Given the description of an element on the screen output the (x, y) to click on. 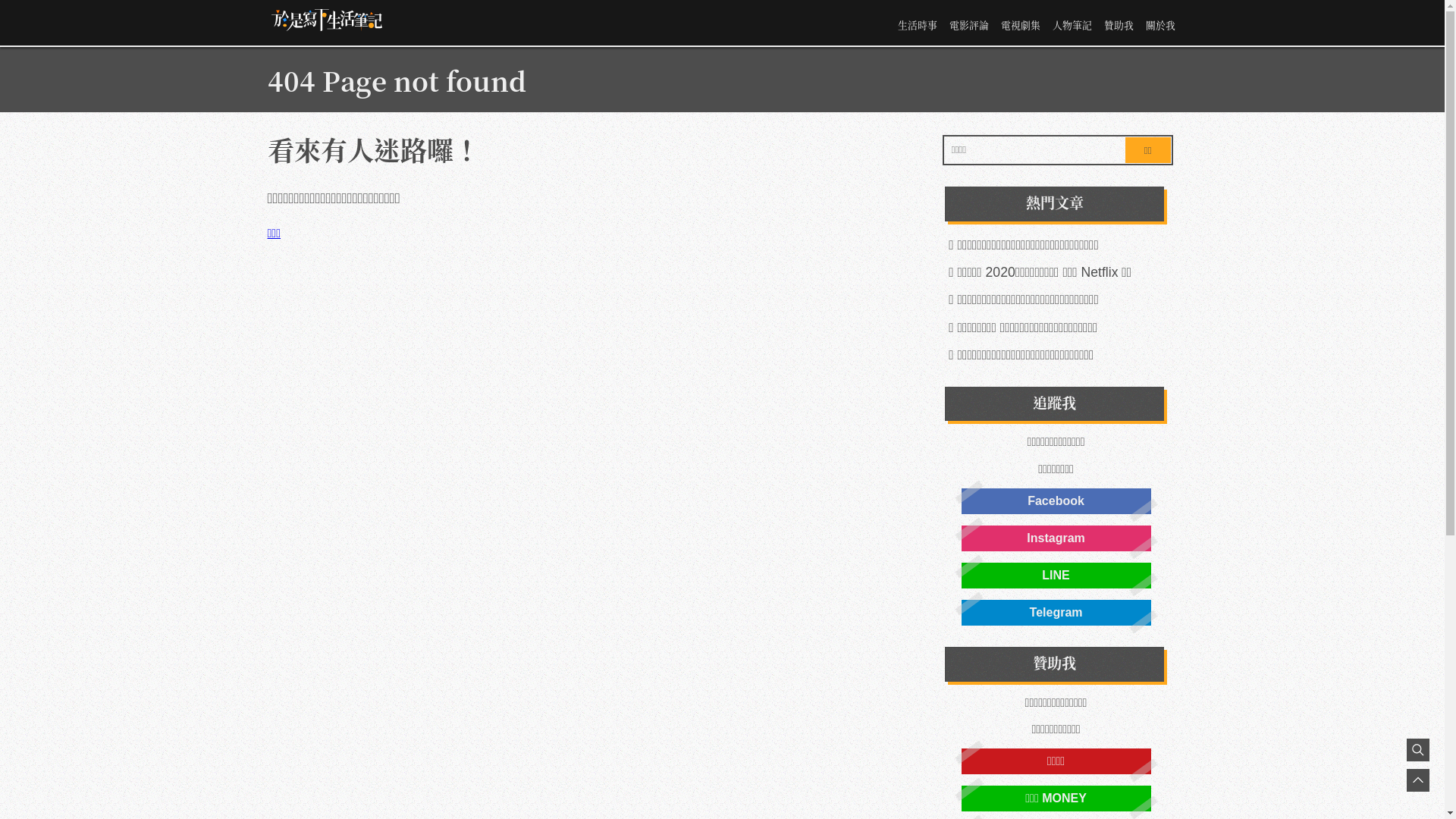
Telegram Element type: text (1056, 612)
LINE Element type: text (1056, 575)
Facebook Element type: text (1056, 501)
Instagram Element type: text (1056, 538)
